Given the description of an element on the screen output the (x, y) to click on. 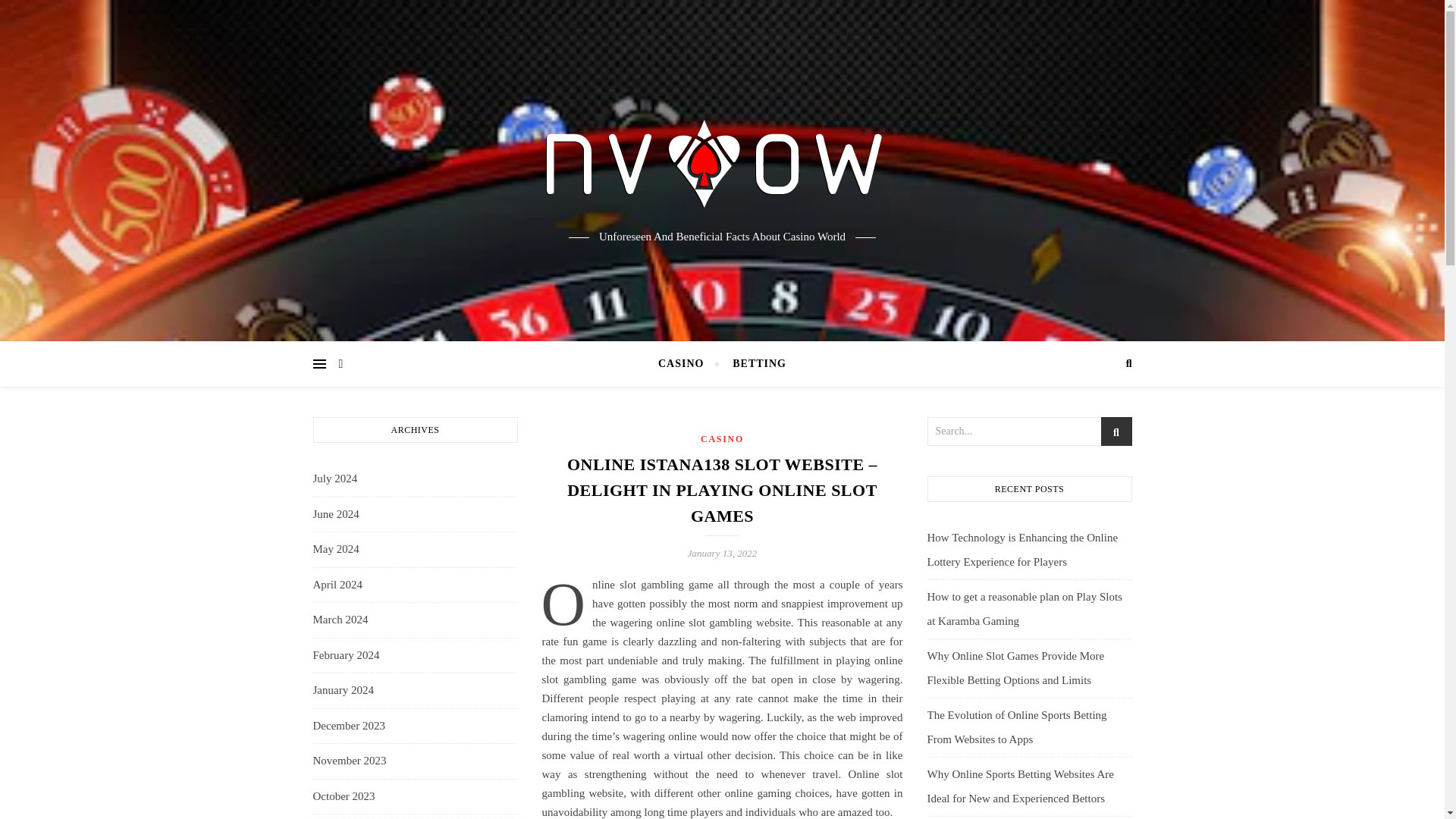
Nvow (721, 157)
May 2024 (335, 549)
June 2024 (335, 514)
July 2024 (334, 478)
November 2023 (349, 761)
CASINO (687, 363)
December 2023 (348, 726)
April 2024 (337, 585)
BETTING (752, 363)
March 2024 (340, 620)
January 2024 (342, 690)
February 2024 (345, 654)
October 2023 (343, 795)
